Given the description of an element on the screen output the (x, y) to click on. 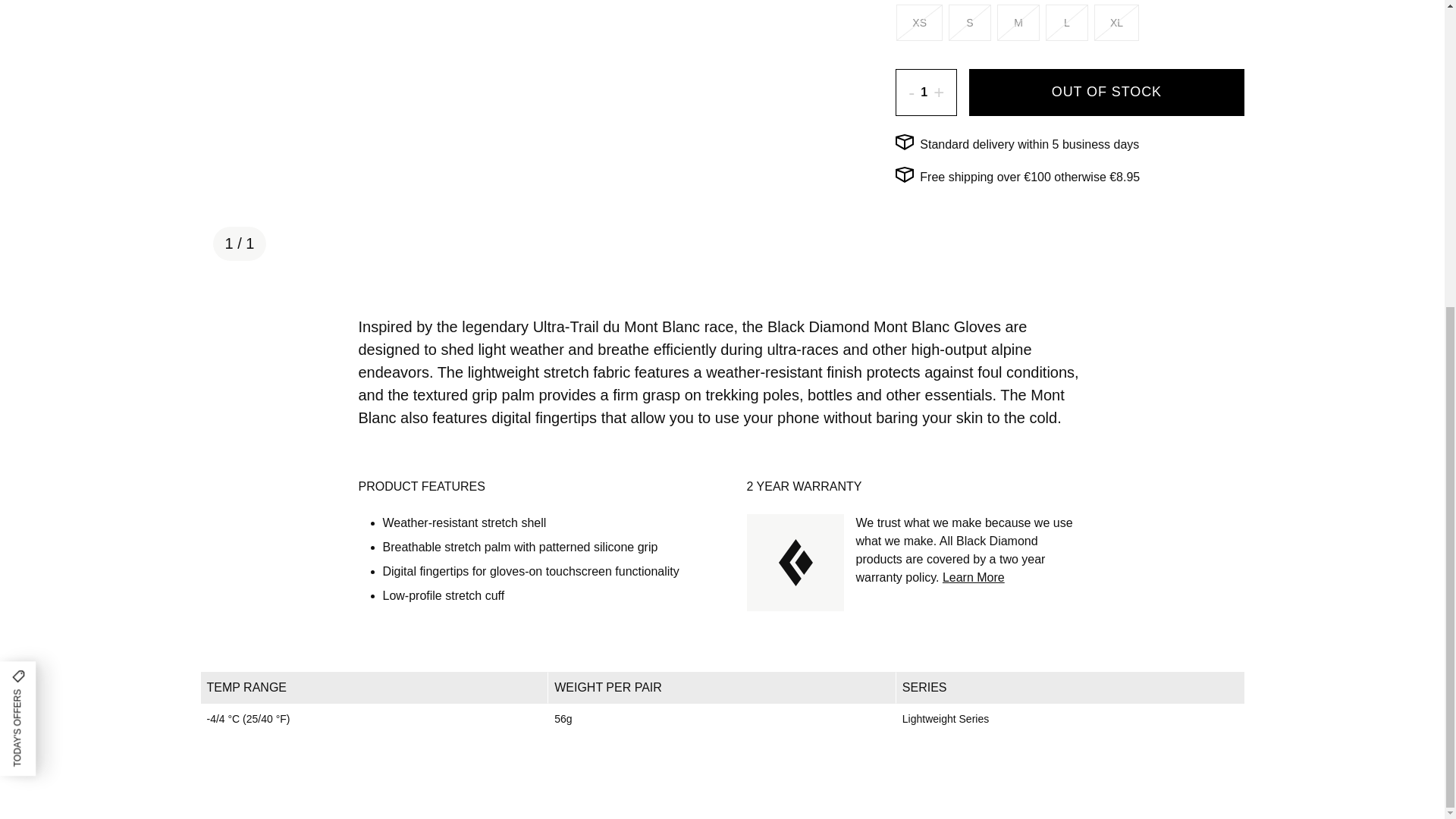
XS Out of Stock (919, 22)
L Out of Stock (1066, 22)
S Out of Stock (970, 22)
M Out of Stock (1018, 22)
XL Out of Stock (1116, 22)
